Given the description of an element on the screen output the (x, y) to click on. 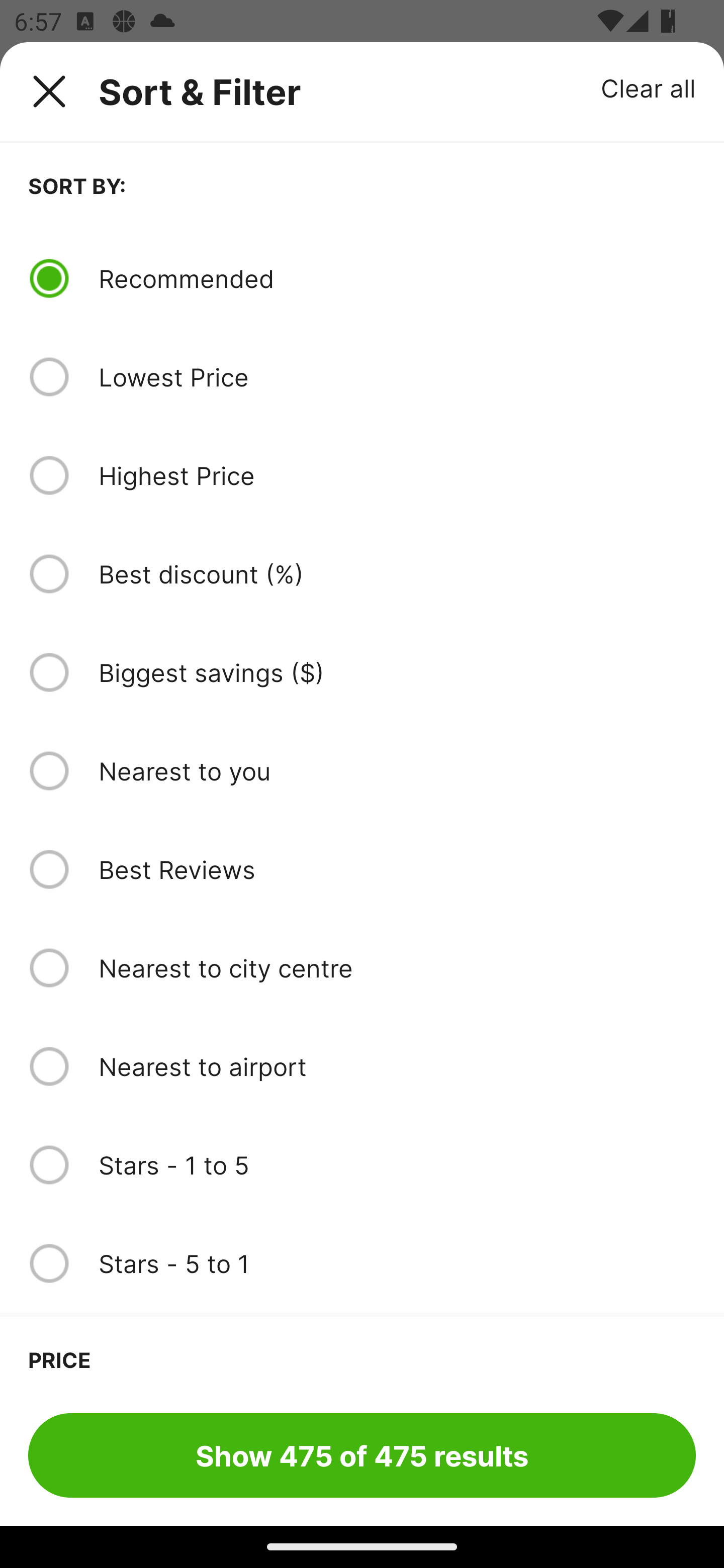
Clear all (648, 87)
Recommended  (396, 278)
Lowest Price (396, 377)
Highest Price (396, 474)
Best discount (%) (396, 573)
Biggest savings ($) (396, 672)
Nearest to you (396, 770)
Best Reviews (396, 869)
Nearest to city centre (396, 968)
Nearest to airport (396, 1065)
Stars - 1 to 5 (396, 1164)
Stars - 5 to 1 (396, 1263)
Show 475 of 475 results (361, 1454)
